Given the description of an element on the screen output the (x, y) to click on. 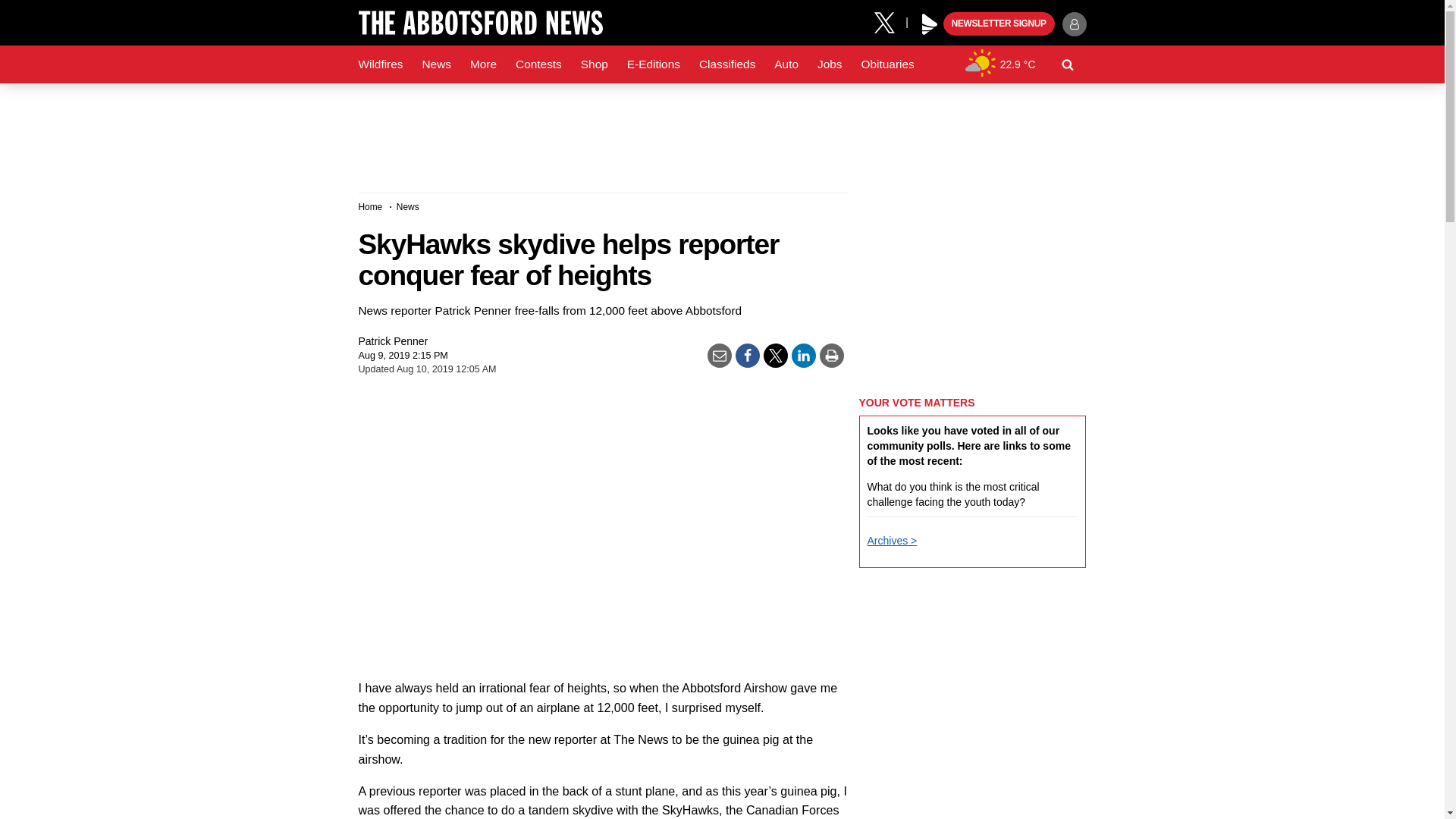
News (435, 64)
Play (929, 24)
NEWSLETTER SIGNUP (998, 24)
Wildfires (380, 64)
Black Press Media (929, 24)
X (889, 21)
